Given the description of an element on the screen output the (x, y) to click on. 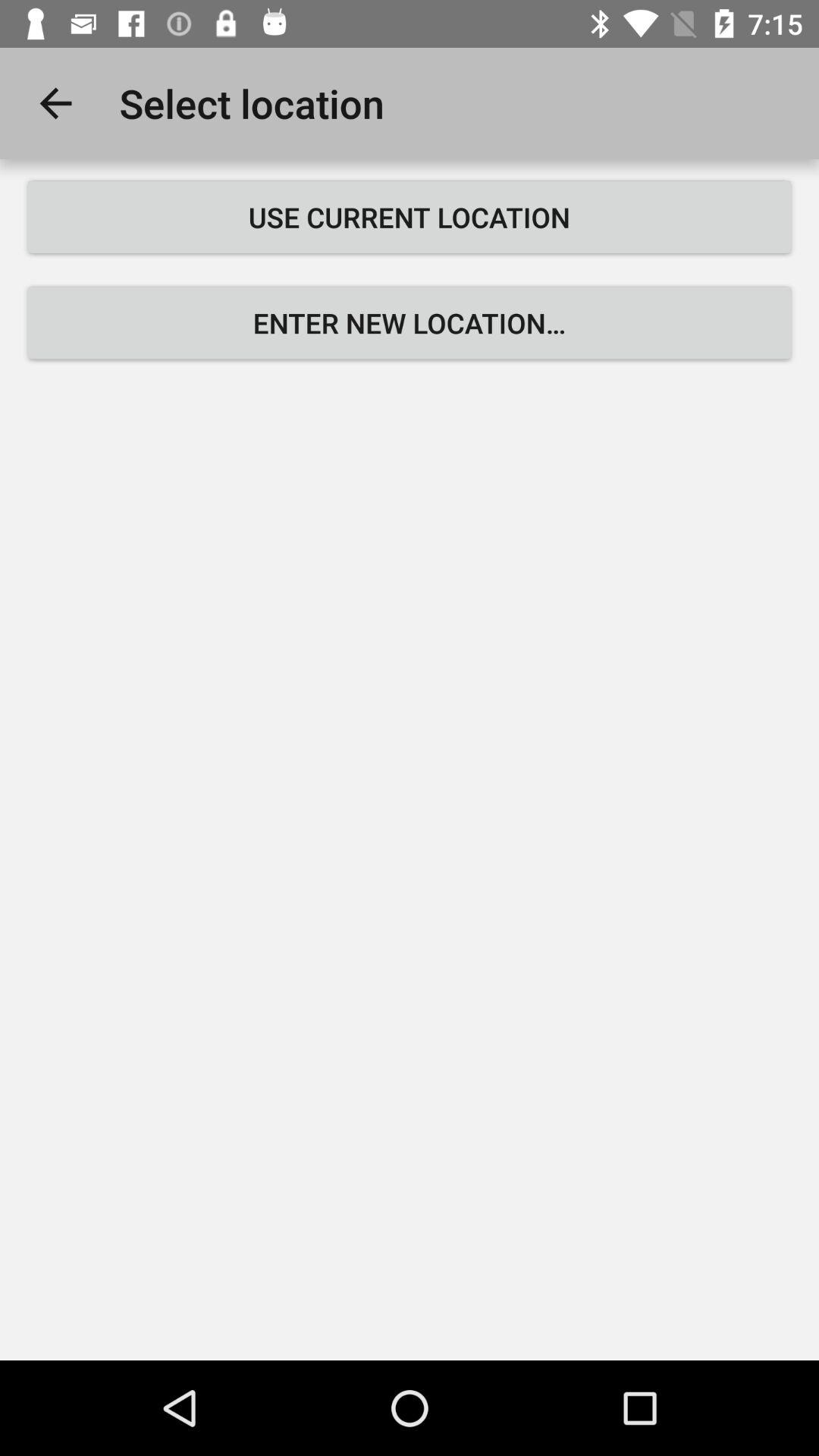
tap item below use current location icon (409, 322)
